Given the description of an element on the screen output the (x, y) to click on. 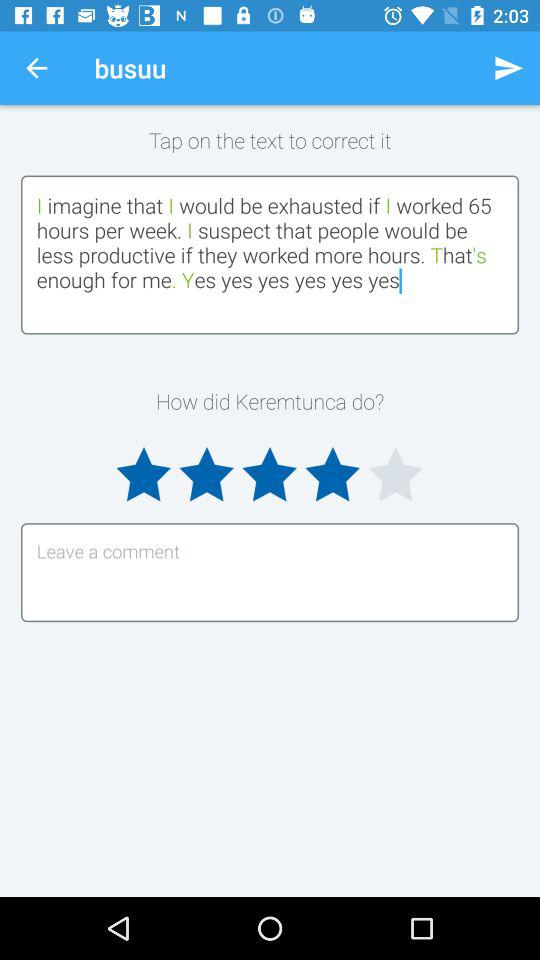
flip until the i imagine that icon (270, 254)
